Given the description of an element on the screen output the (x, y) to click on. 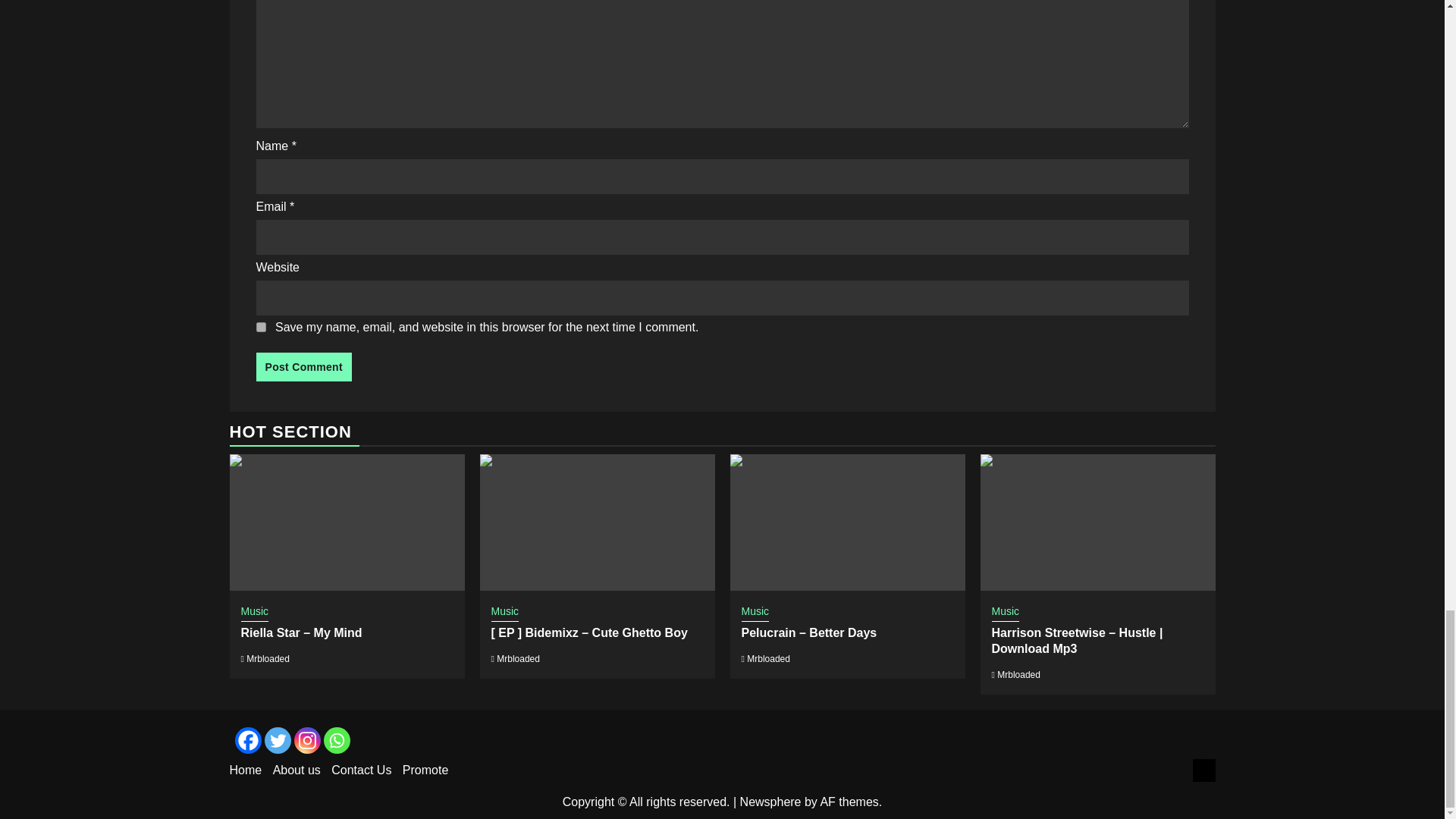
Facebook (248, 740)
Post Comment (304, 366)
Twitter (276, 740)
Whatsapp (336, 740)
Instagram (307, 740)
yes (261, 327)
